Given the description of an element on the screen output the (x, y) to click on. 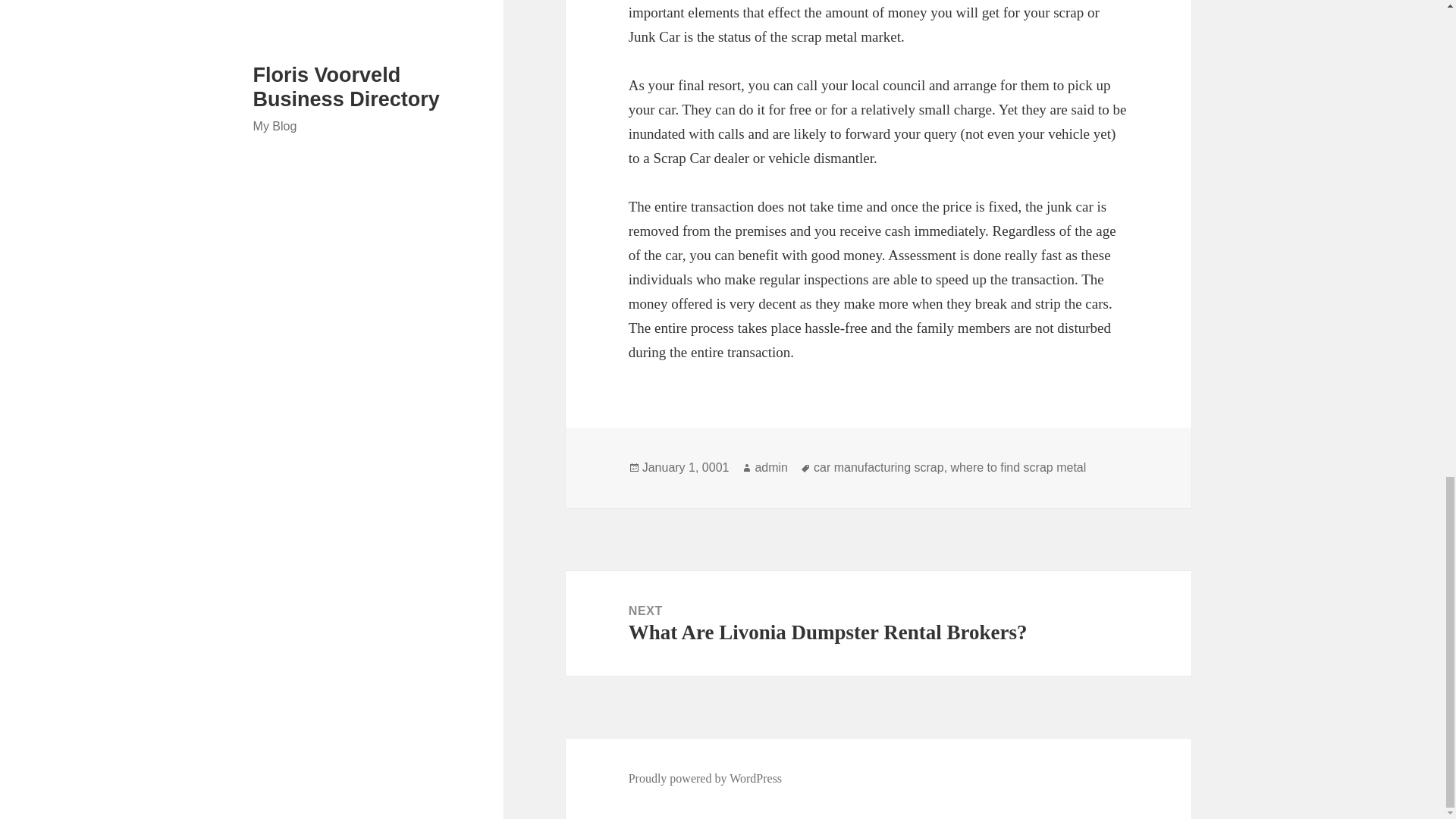
January 1, 0001 (685, 468)
admin (770, 468)
Proudly powered by WordPress (704, 778)
car manufacturing scrap (878, 468)
where to find scrap metal (1018, 468)
